Given the description of an element on the screen output the (x, y) to click on. 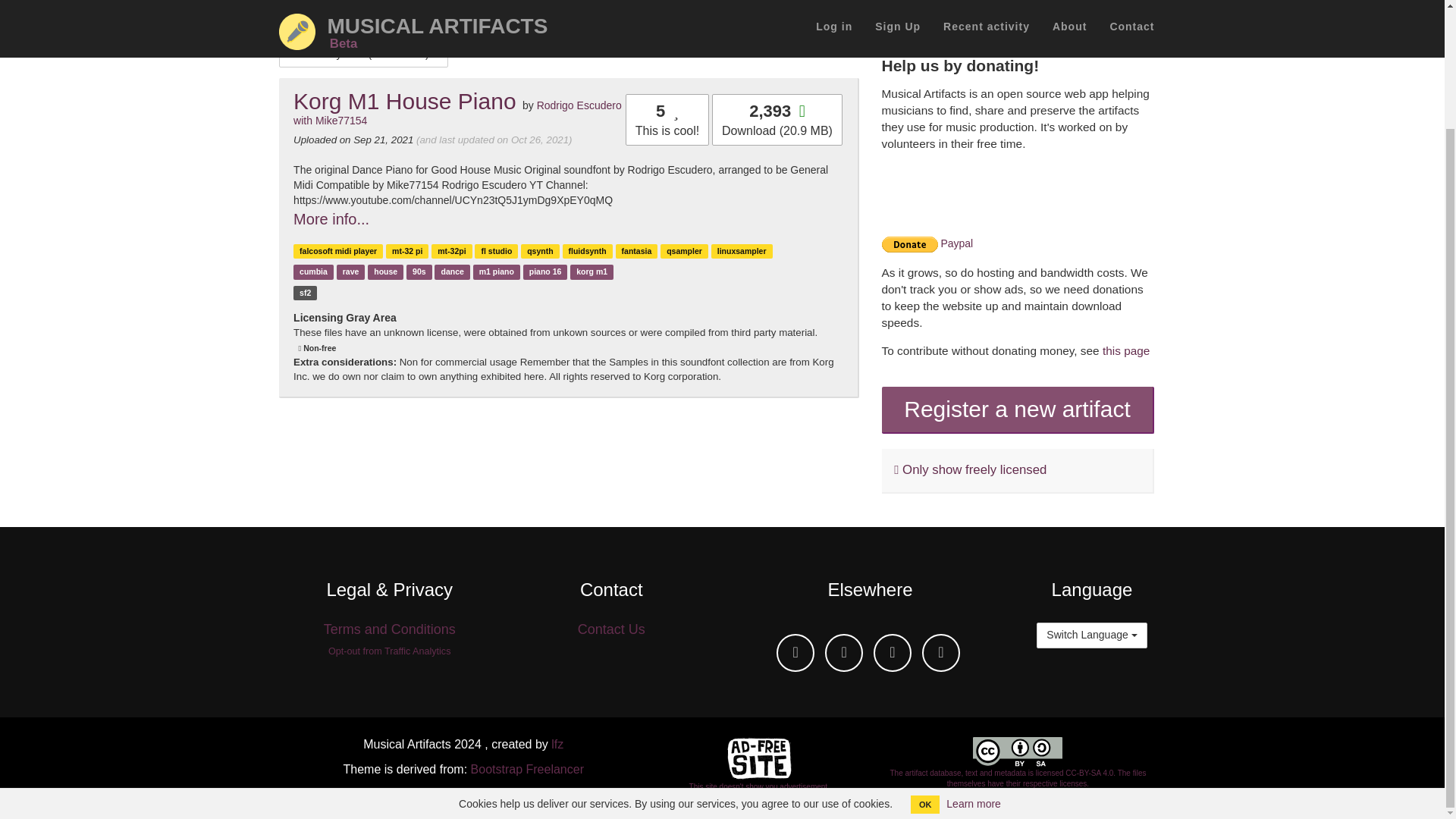
cumbia (313, 271)
linuxsampler (742, 250)
rave (350, 271)
house (385, 271)
Learn more (973, 662)
RSS (940, 652)
fluidsynth (588, 250)
OK (925, 662)
Korg M1 House Piano (405, 100)
Github (795, 652)
